Given the description of an element on the screen output the (x, y) to click on. 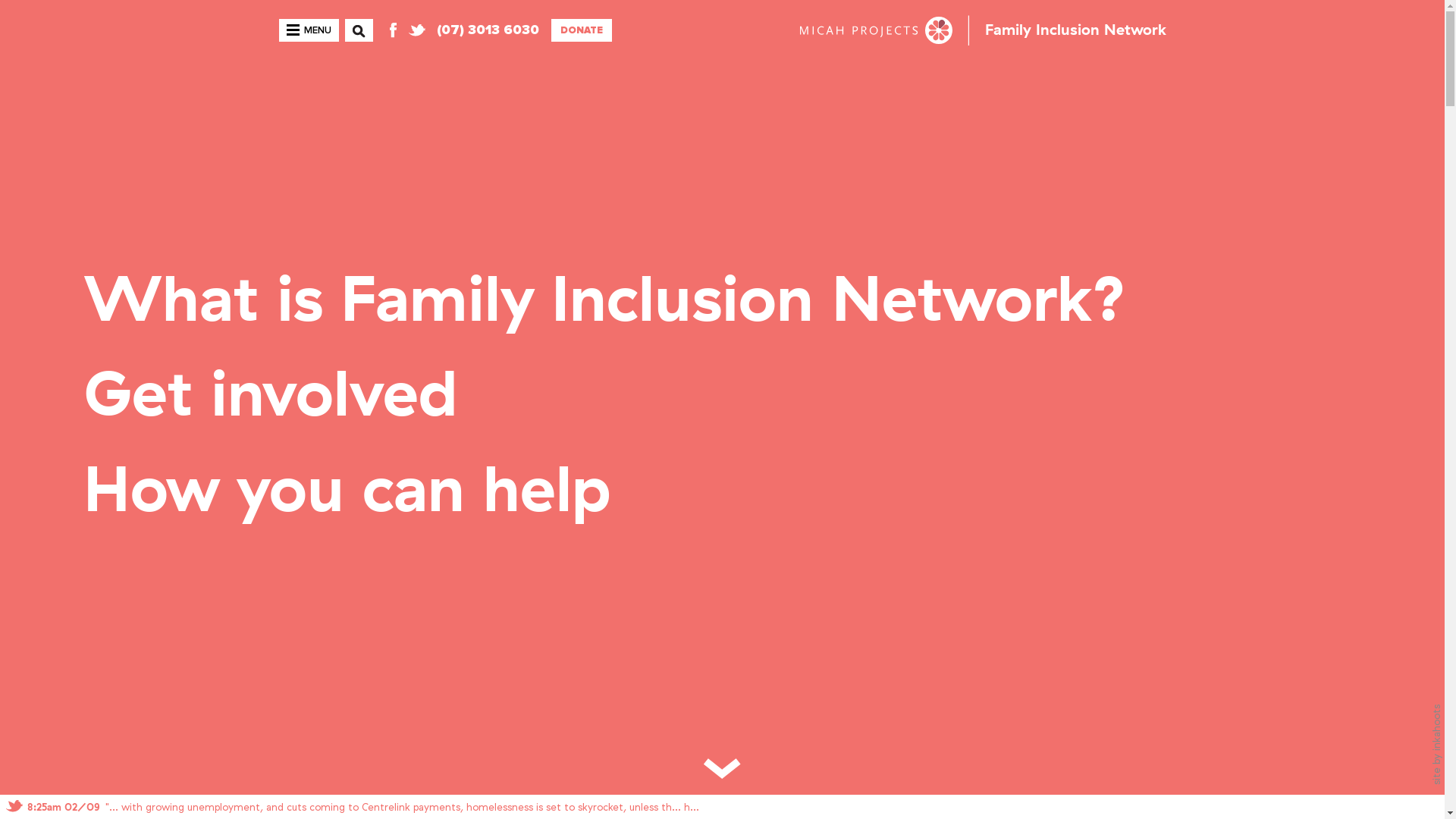
(07) 3013 6030 Element type: text (487, 30)
DONATE Element type: text (580, 29)
What is Family Inclusion Network? Element type: text (605, 301)
How you can help Element type: text (346, 492)
Get involved Element type: text (270, 396)
SEARCH Element type: text (357, 41)
Facebook Element type: text (391, 29)
Family Inclusion Network Element type: text (1074, 29)
Twitter Element type: text (415, 29)
